Given the description of an element on the screen output the (x, y) to click on. 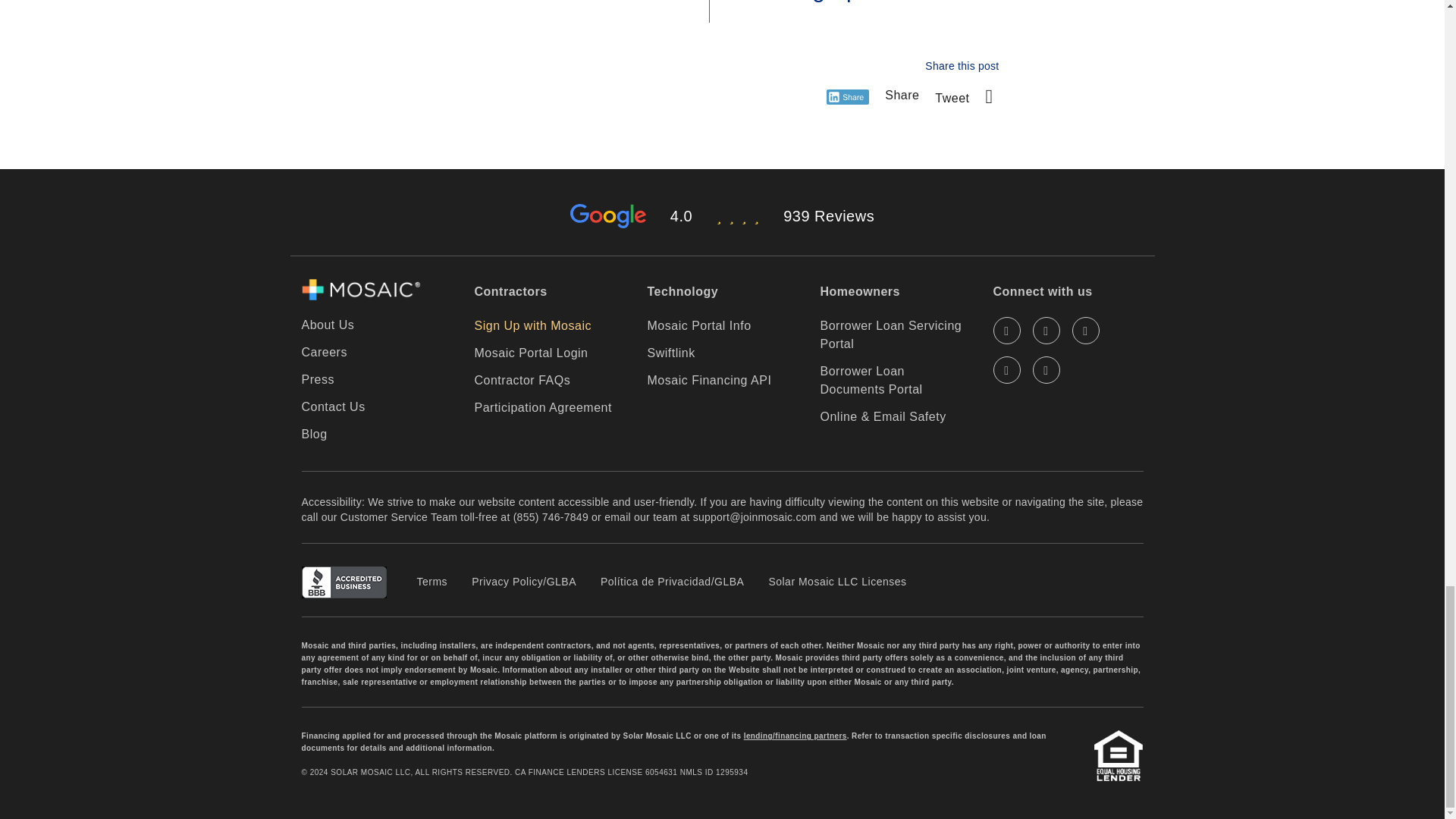
Tweet (951, 97)
Share (901, 94)
Share (848, 96)
